Given the description of an element on the screen output the (x, y) to click on. 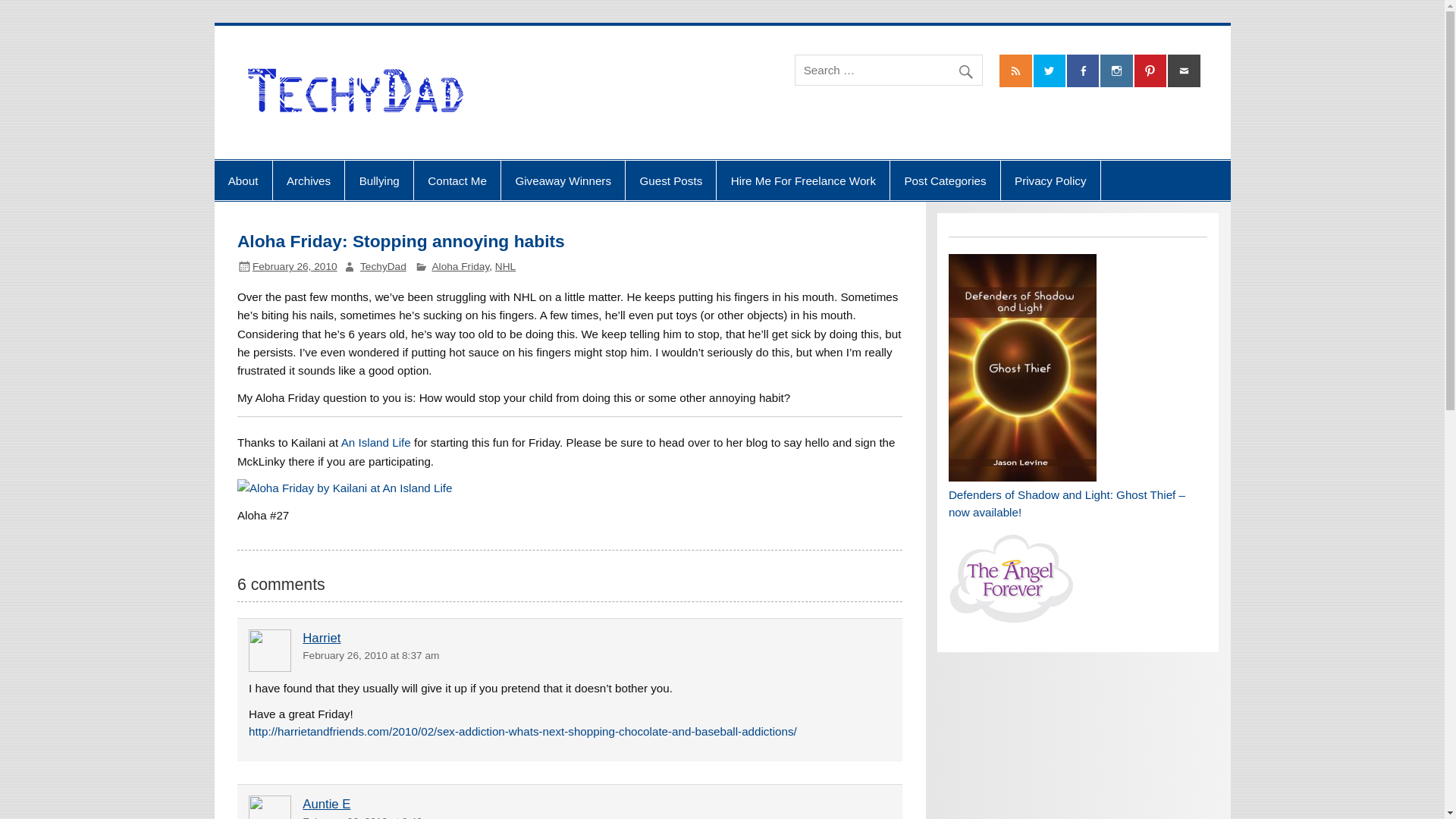
Post Categories (944, 179)
Guest Posts (671, 179)
Auntie E (326, 803)
Aloha Friday (460, 266)
Privacy Policy (1050, 179)
TechyDad (382, 266)
View all posts by TechyDad (382, 266)
NHL (505, 266)
Archives (309, 179)
February 26, 2010 (294, 266)
